Given the description of an element on the screen output the (x, y) to click on. 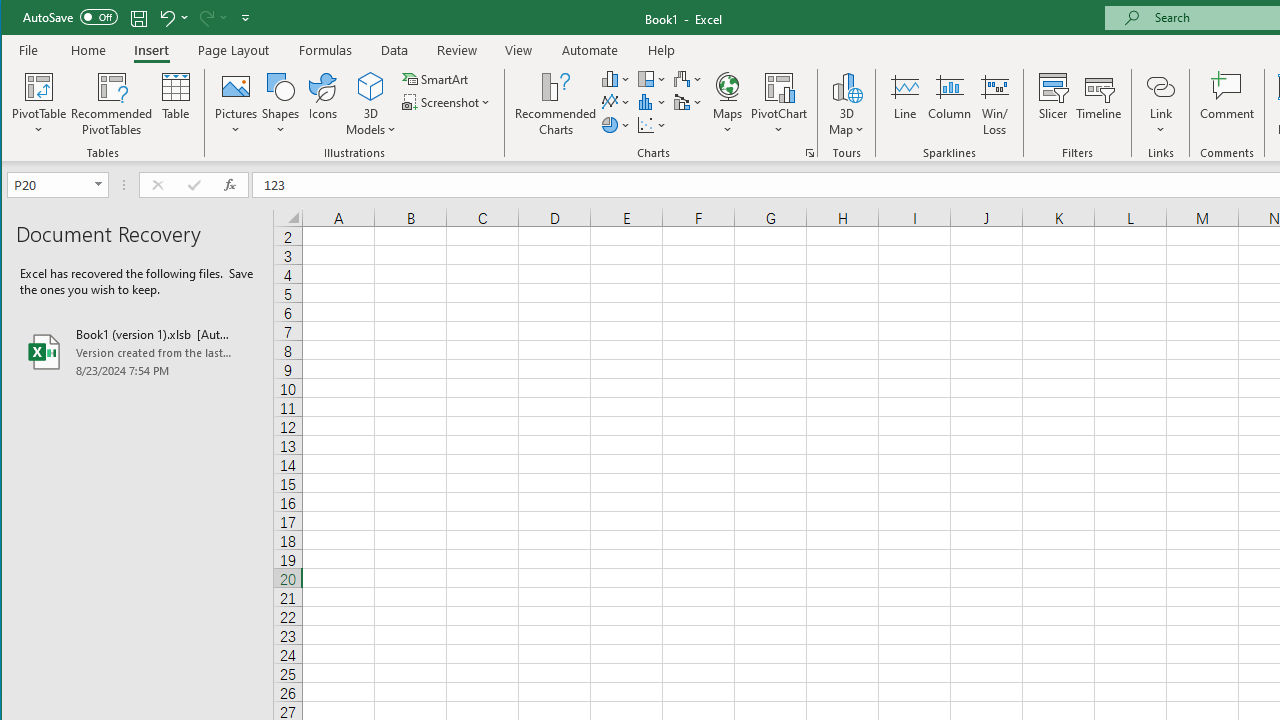
Table (175, 104)
3D Models (371, 86)
Column (949, 104)
Link (1160, 86)
Recommended PivotTables (111, 104)
Insert Line or Area Chart (616, 101)
Icons (323, 104)
Insert Combo Chart (688, 101)
3D Map (846, 86)
Shapes (280, 104)
